Given the description of an element on the screen output the (x, y) to click on. 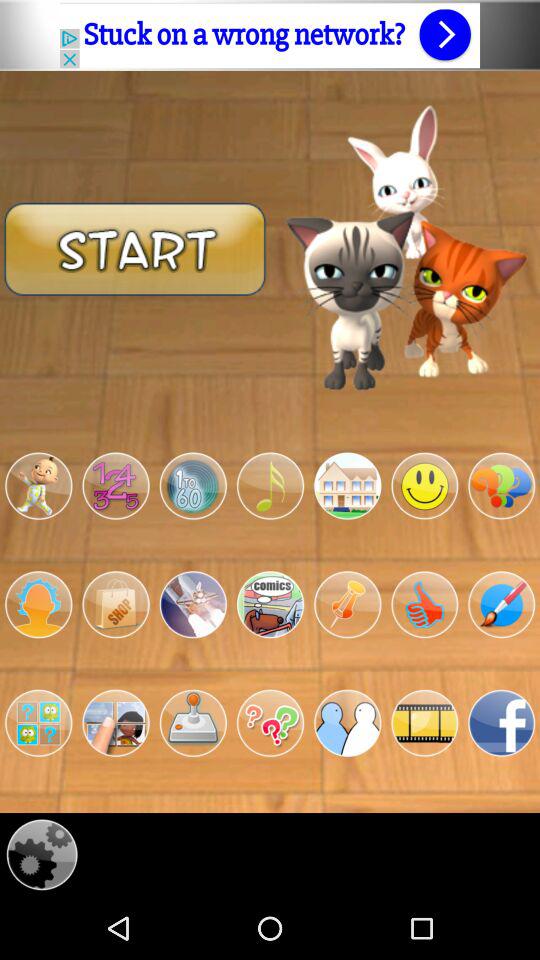
start the game (135, 248)
